Given the description of an element on the screen output the (x, y) to click on. 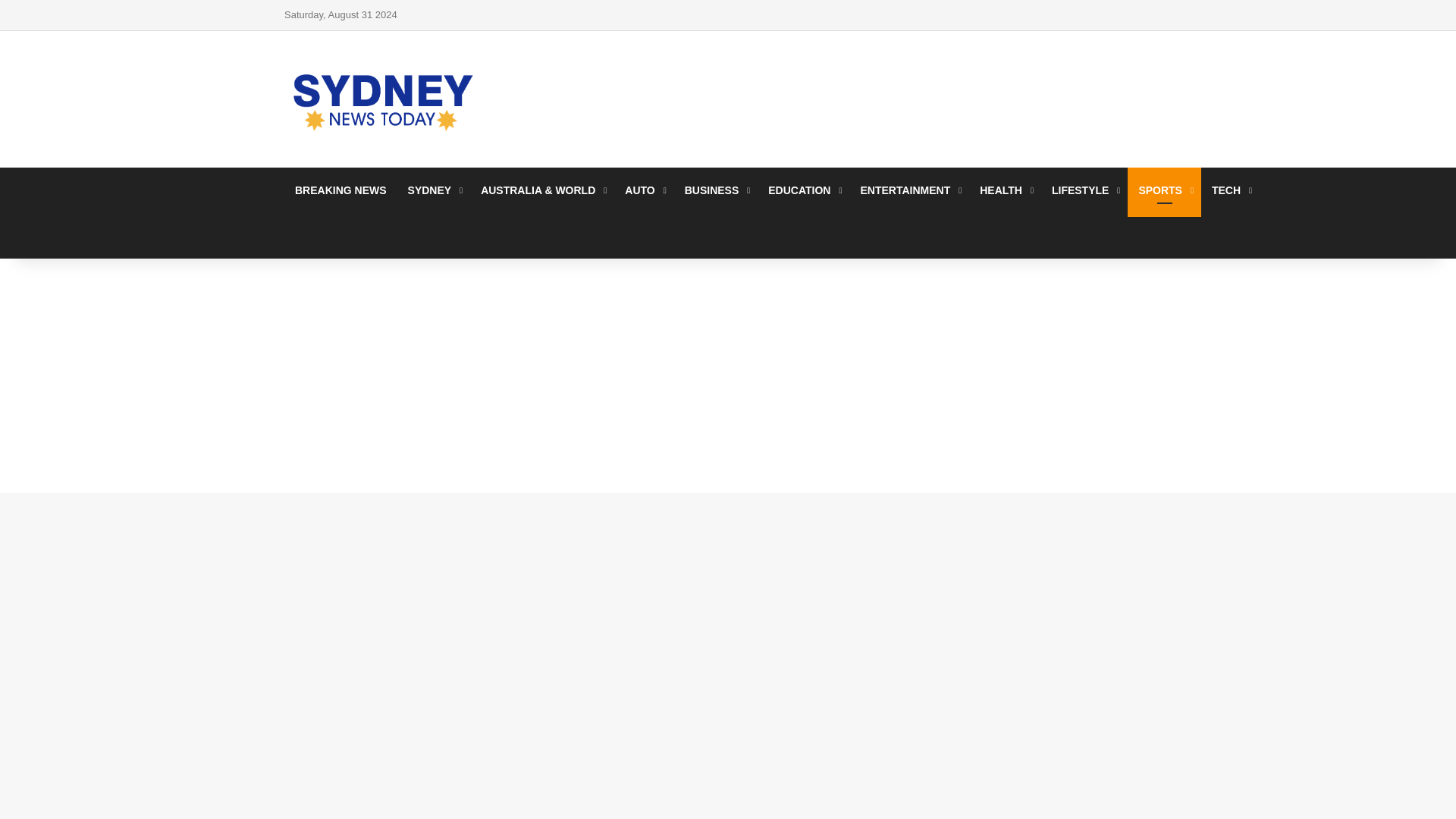
LIFESTYLE (1083, 189)
Sydneynewstoday.com (381, 99)
BUSINESS (716, 189)
ENTERTAINMENT (908, 189)
BREAKING NEWS (340, 189)
AUTO (643, 189)
SPORTS (1163, 189)
TECH (1230, 189)
SYDNEY (433, 189)
HEALTH (1005, 189)
